Given the description of an element on the screen output the (x, y) to click on. 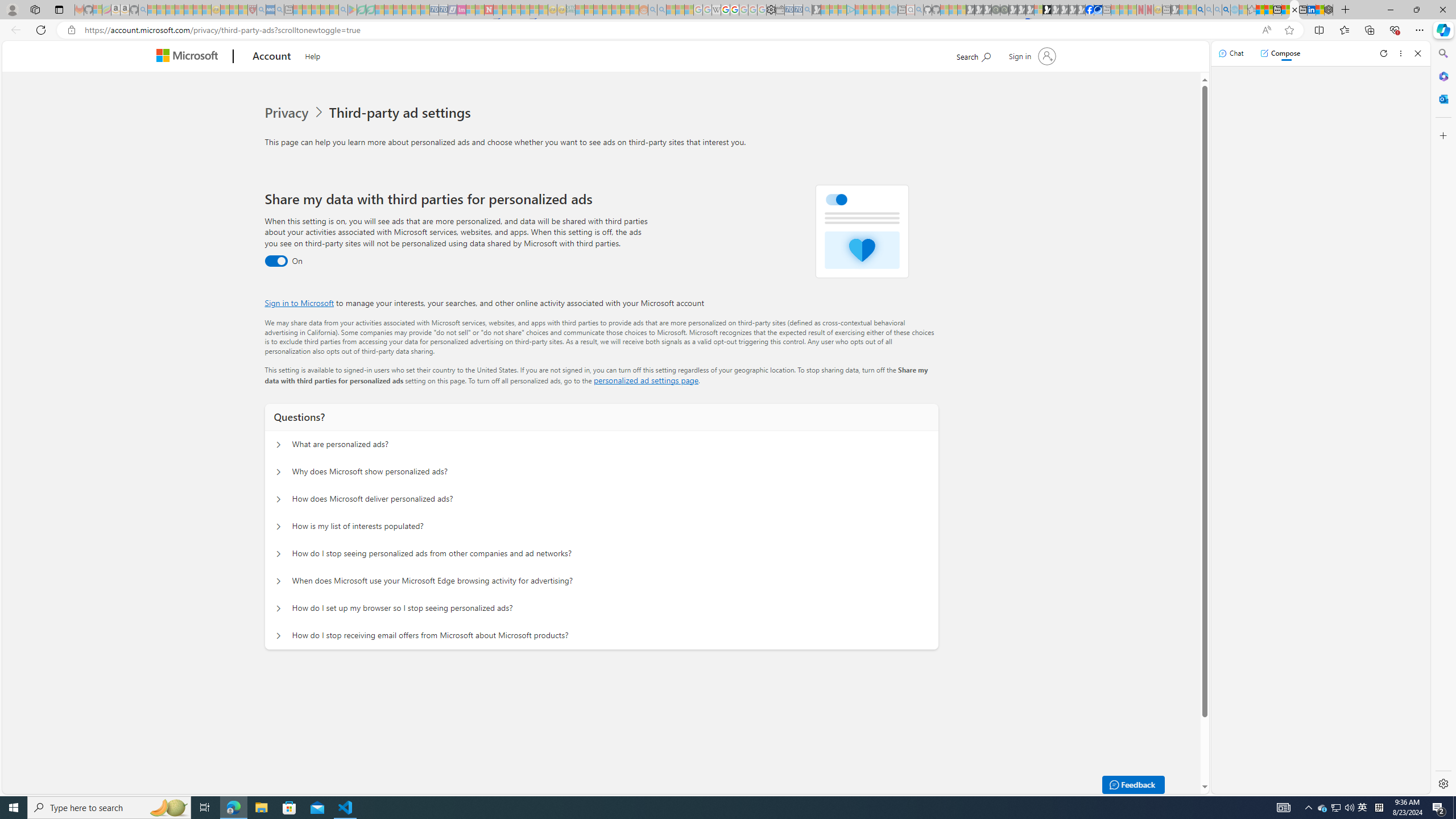
Search Microsoft.com (972, 54)
Aberdeen, Hong Kong SAR weather forecast | Microsoft Weather (1268, 9)
Target page - Wikipedia - Sleeping (716, 9)
